Given the description of an element on the screen output the (x, y) to click on. 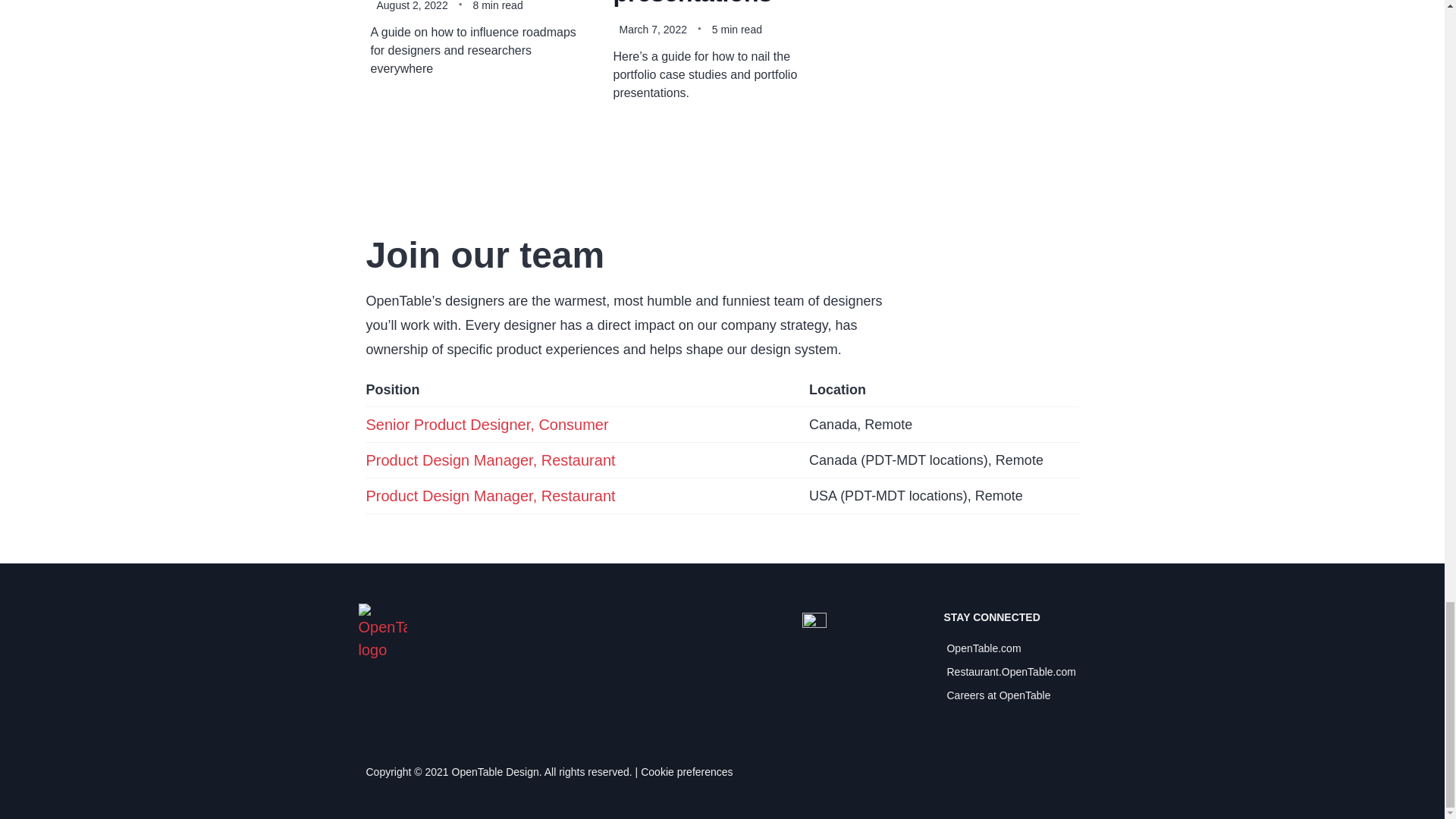
Product Design Manager, Restaurant (489, 460)
Senior Product Designer, Consumer (486, 424)
Careers at OpenTable (1006, 695)
Cookie preferences (684, 772)
OpenTable.com (1006, 648)
Restaurant.OpenTable.com (1006, 672)
Product Design Manager, Restaurant (489, 495)
